Given the description of an element on the screen output the (x, y) to click on. 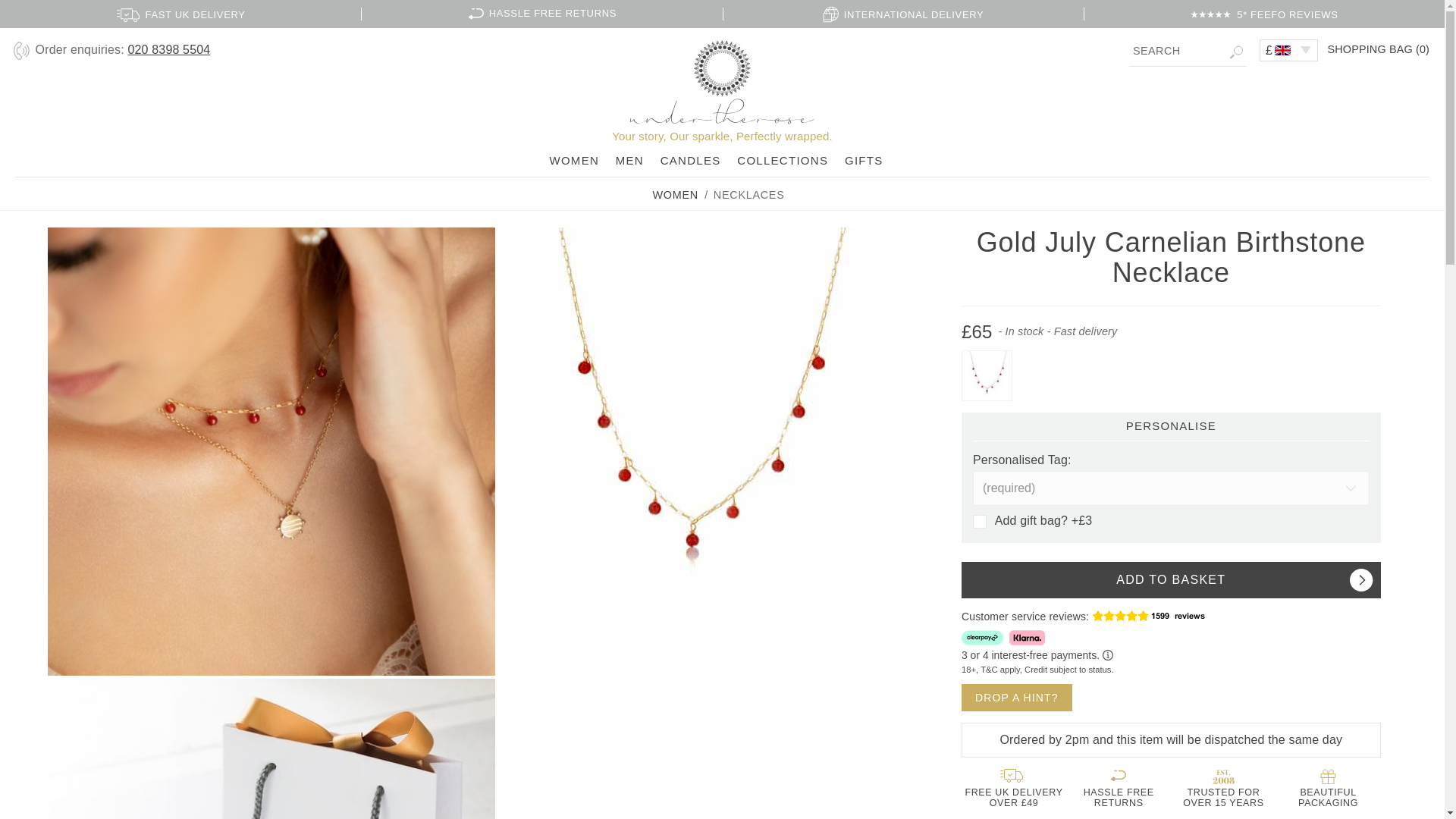
WOMEN (674, 194)
Payment method messaging (1171, 652)
020 8398 5504 (168, 49)
Under the Rose - Personalised Jewellery (721, 82)
DROP A HINT? (1015, 697)
GIFTS (863, 160)
NECKLACES (748, 194)
ADD TO BASKET (1170, 579)
COLLECTIONS (782, 160)
WOMEN (573, 160)
See what our customers say about us (1167, 614)
MEN (629, 160)
CANDLES (690, 160)
Search (1187, 51)
